Given the description of an element on the screen output the (x, y) to click on. 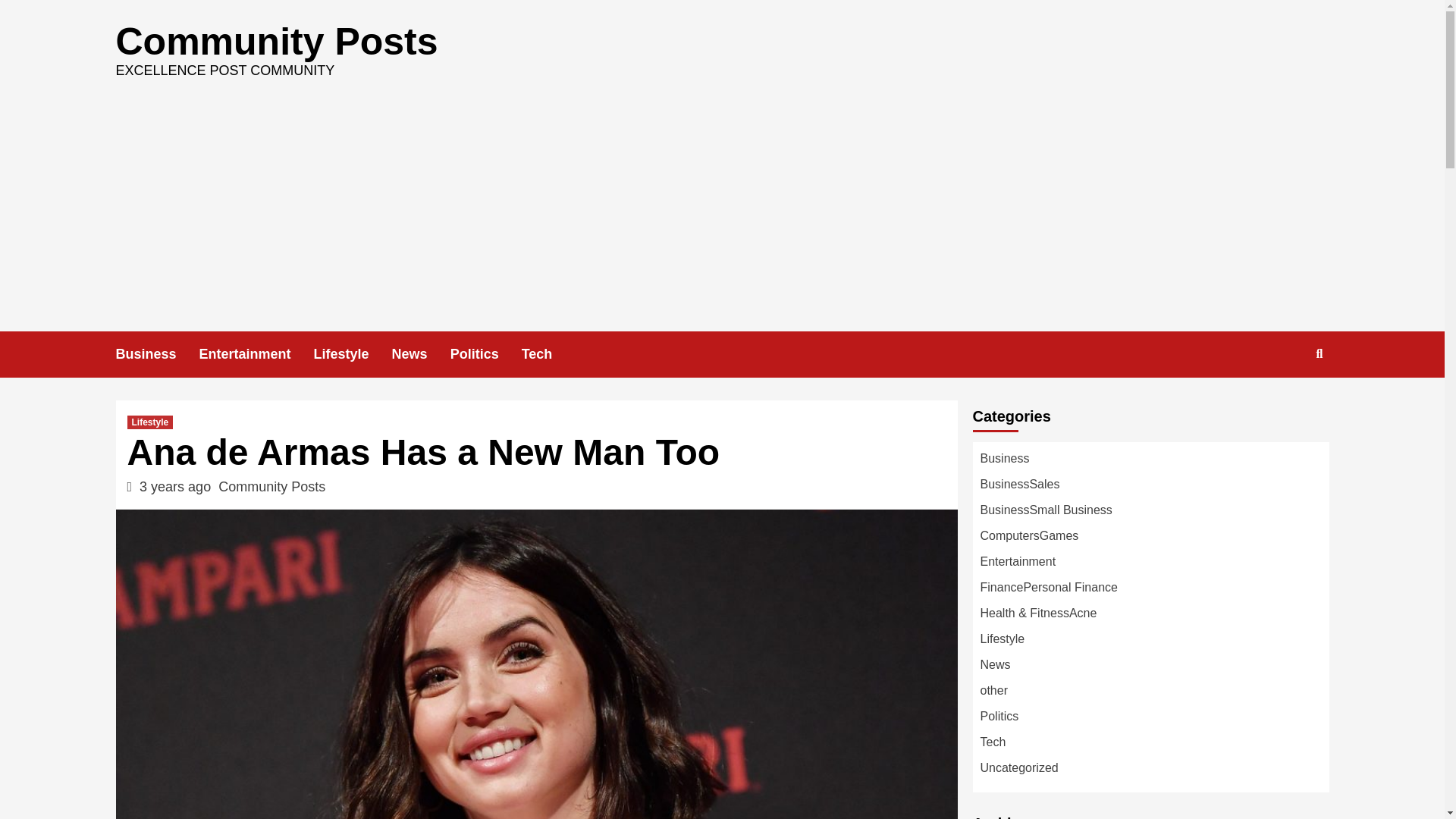
Community Posts (276, 41)
News (420, 354)
other (993, 689)
FinancePersonal Finance (1047, 586)
BusinessSales (1019, 483)
Lifestyle (150, 422)
Business (1004, 458)
Lifestyle (352, 354)
Search (1283, 402)
